Given the description of an element on the screen output the (x, y) to click on. 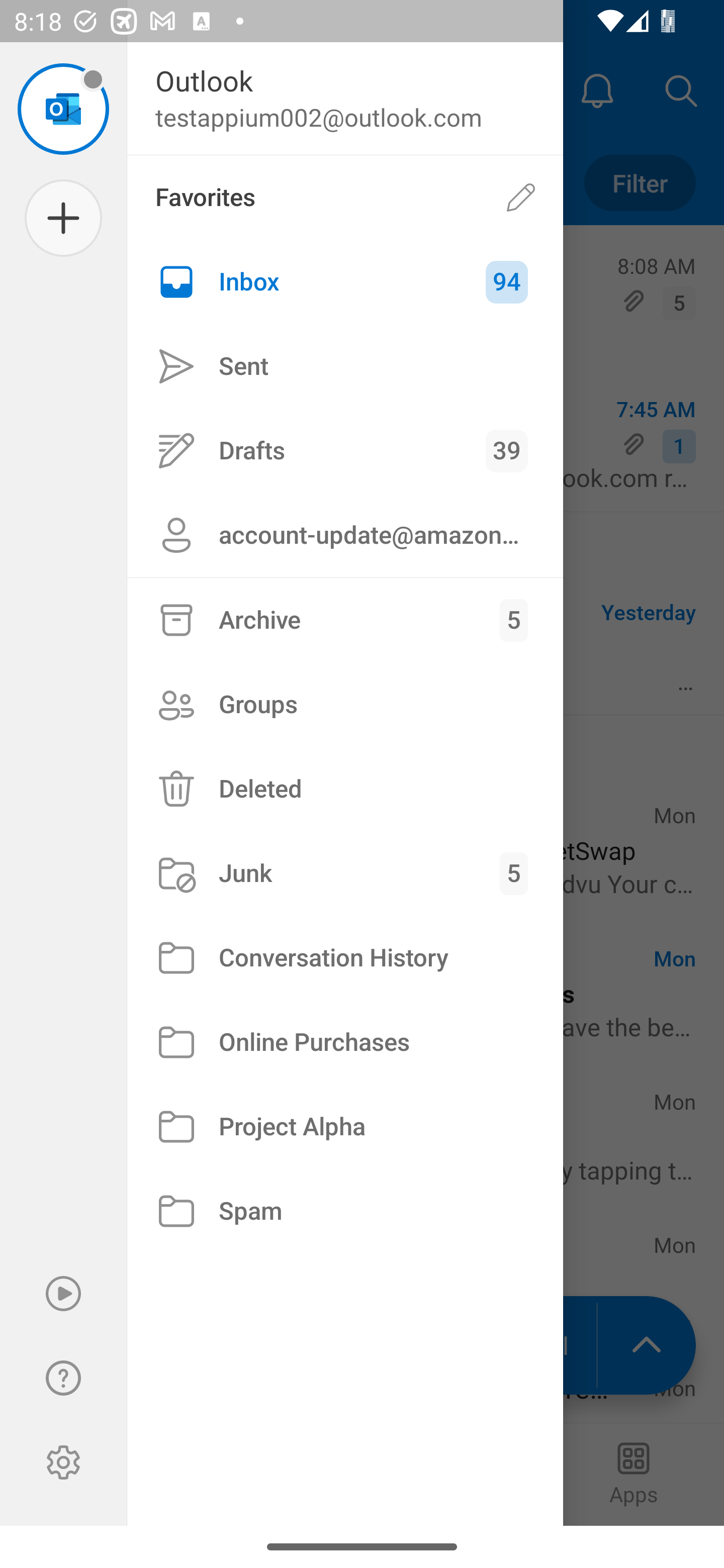
Edit favorites (520, 197)
Add account (63, 217)
Inbox Inbox, 94 unread emails,Selected (345, 281)
Sent (345, 366)
Drafts Drafts, 39 unread emails (345, 450)
account-update@amazon.com (345, 534)
Archive Archive, 2 of 9, level 1, 5 unread emails (345, 619)
Groups Groups, 3 of 9, level 1 (345, 703)
Deleted Deleted, 4 of 9, level 1 (345, 788)
Junk Junk, 5 of 9, level 1, 5 unread emails (345, 873)
Online Purchases Online Purchases, 7 of 9, level 1 (345, 1042)
Project Alpha Project Alpha, 8 of 9, level 1 (345, 1127)
Spam Spam, 9 of 9, level 1 (345, 1210)
Play My Emails (62, 1293)
Help (62, 1377)
Settings (62, 1462)
